Given the description of an element on the screen output the (x, y) to click on. 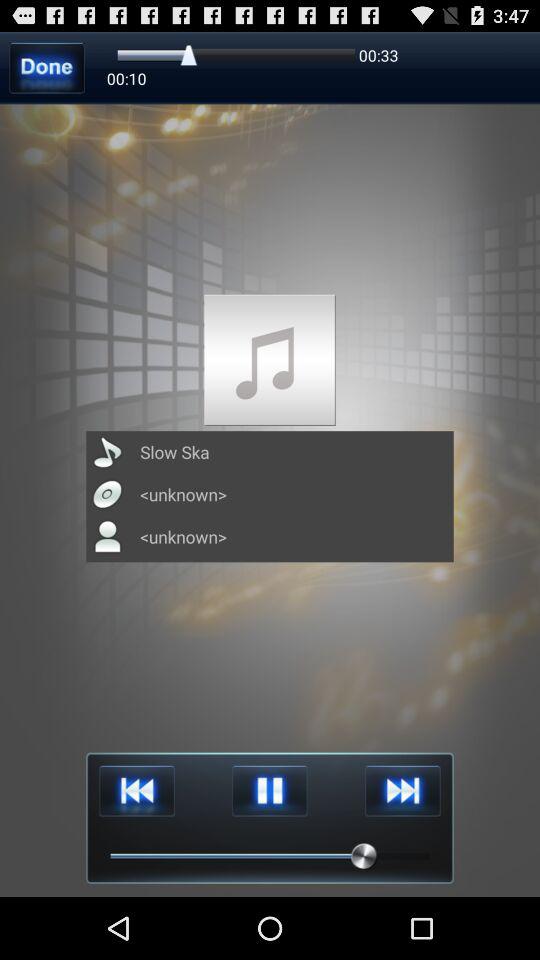
next item (402, 790)
